Given the description of an element on the screen output the (x, y) to click on. 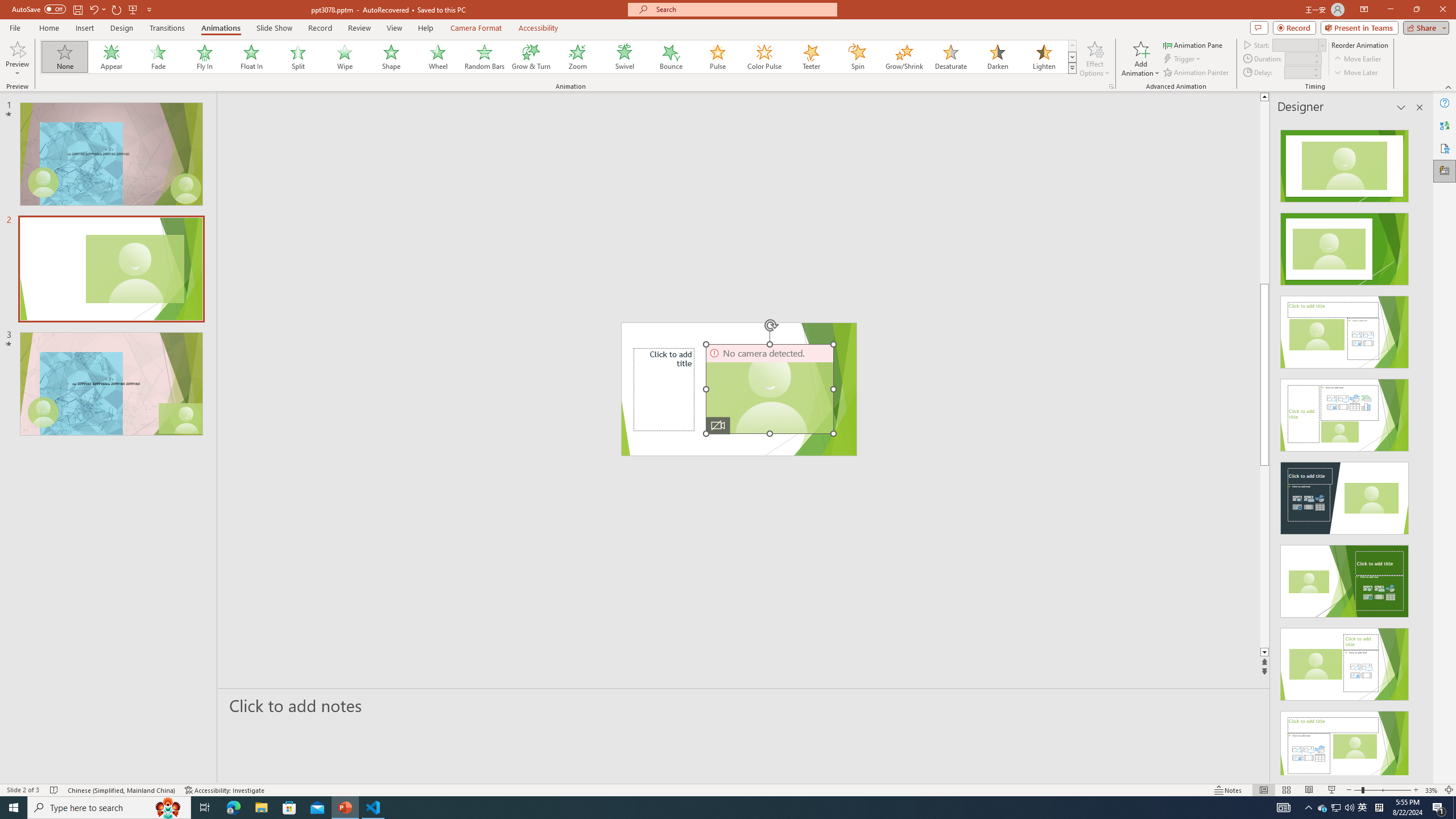
Color Pulse (764, 56)
Animation Pane (1193, 44)
Recommended Design: Design Idea (1344, 162)
Spin (857, 56)
Camera 3, No camera detected. (769, 388)
Class: NetUIScrollBar (1418, 447)
Animation Delay (1297, 72)
